Given the description of an element on the screen output the (x, y) to click on. 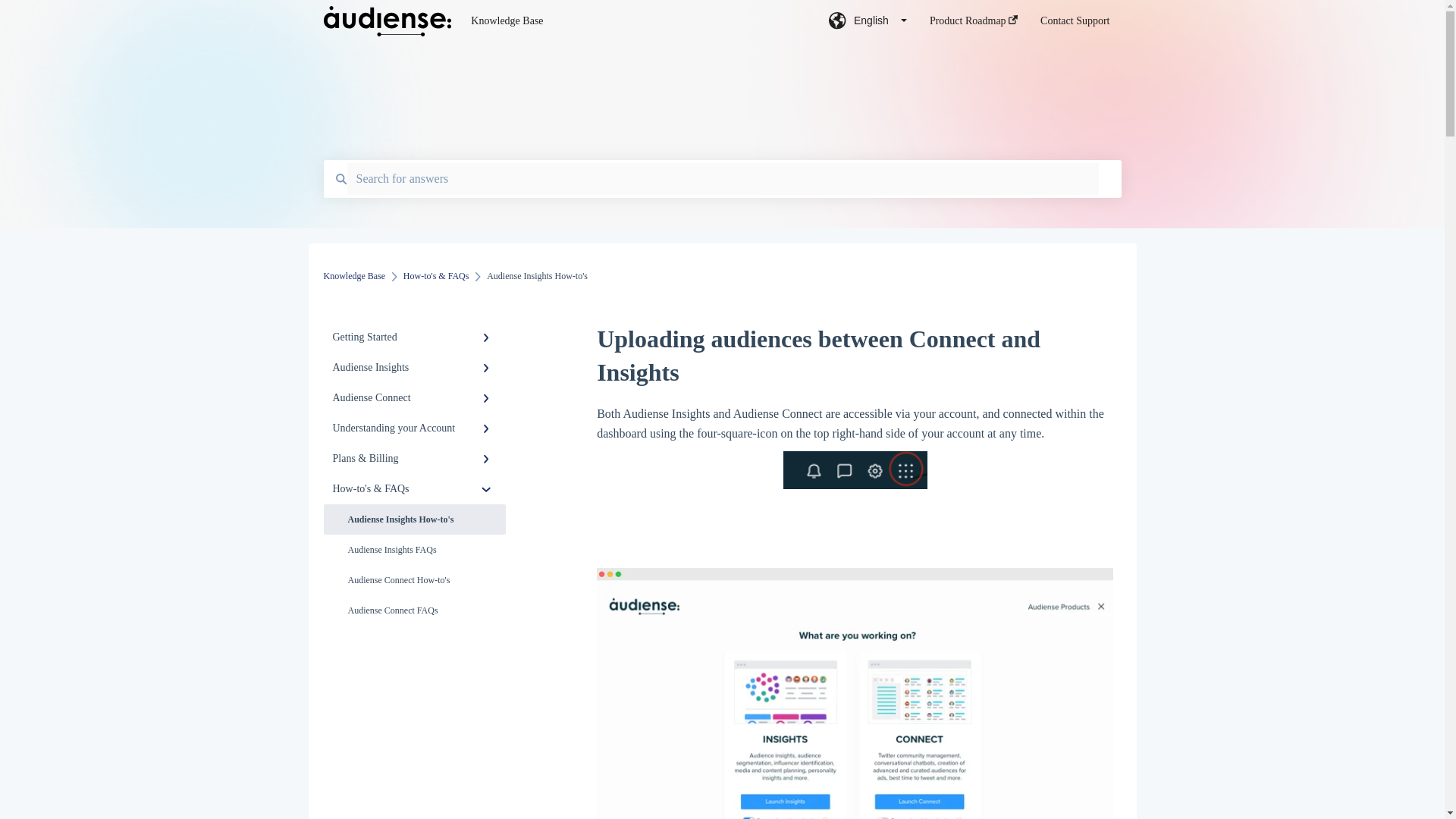
English (867, 25)
Product Roadmap (973, 25)
Knowledge Base (354, 276)
Contact Support (1075, 25)
Knowledge Base (626, 21)
